Given the description of an element on the screen output the (x, y) to click on. 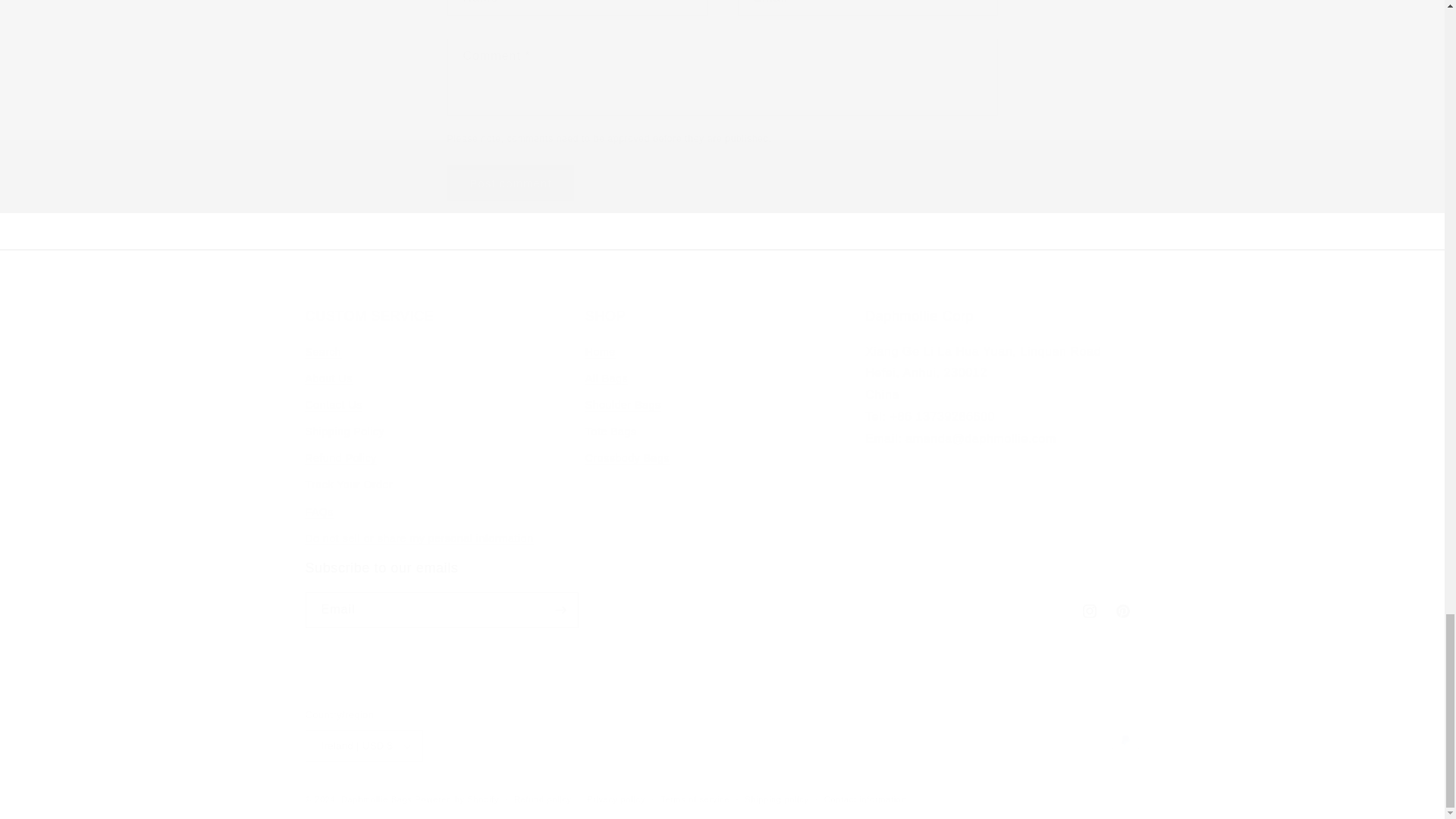
About Us (328, 378)
Post comment (510, 182)
Post comment (721, 593)
Shipping Policy (510, 182)
FAQs (344, 431)
Contact Us (318, 511)
Track Your Order (332, 405)
Refund Policy (722, 429)
Search (348, 484)
